Given the description of an element on the screen output the (x, y) to click on. 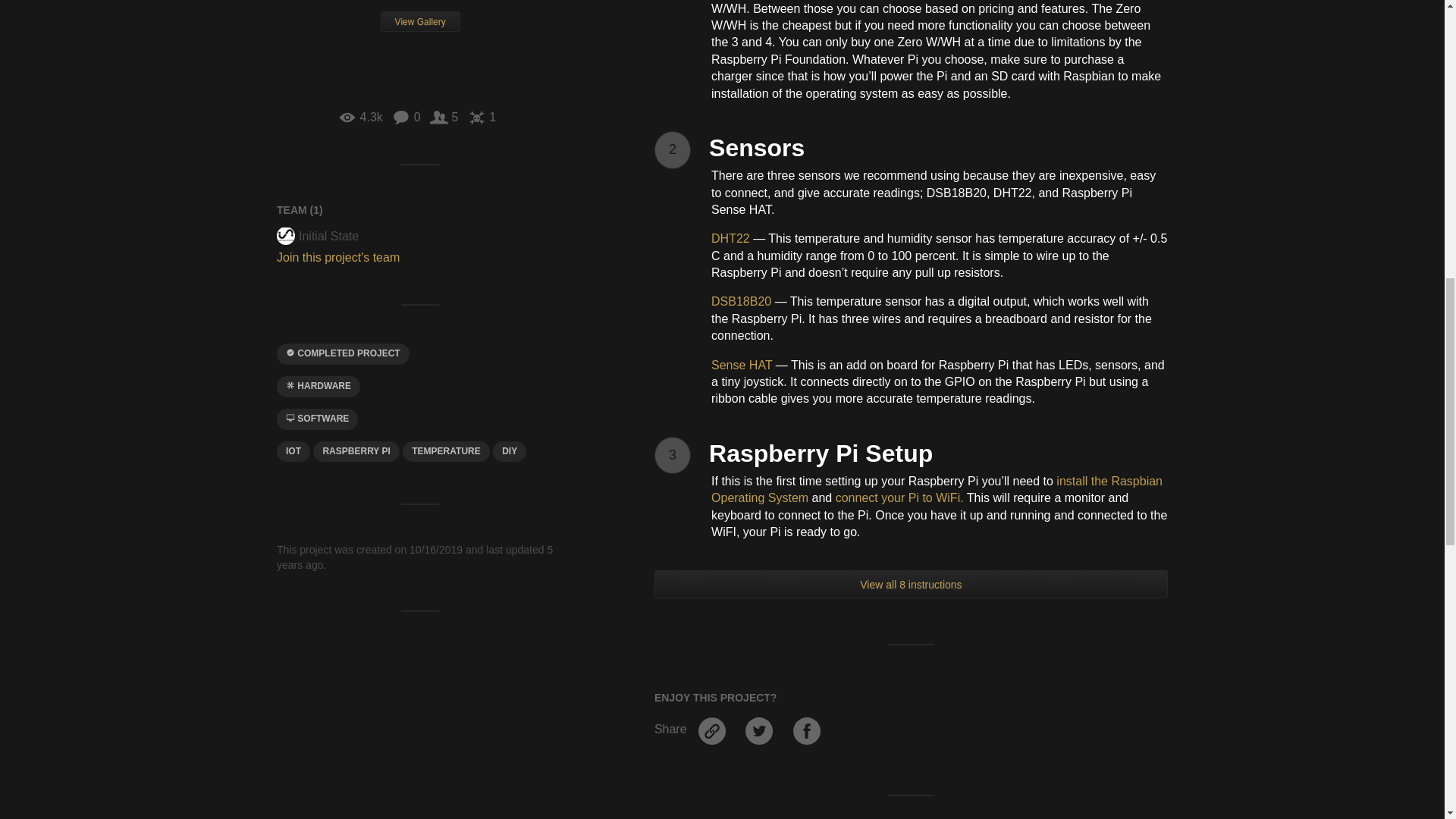
Likes (481, 116)
Followers (443, 116)
Comments (405, 116)
View Count (359, 116)
